Given the description of an element on the screen output the (x, y) to click on. 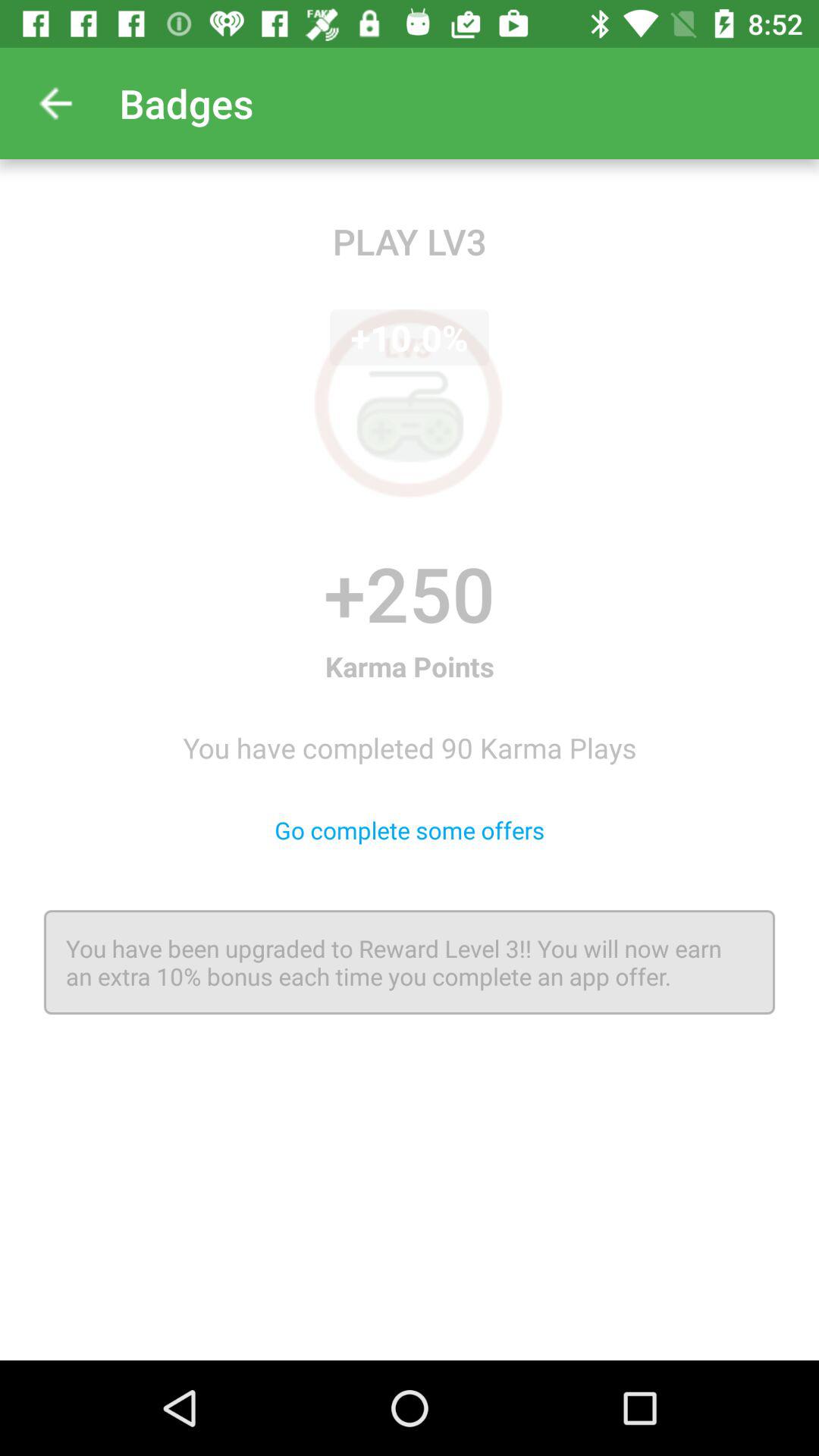
choose icon above play lv3 item (55, 103)
